Given the description of an element on the screen output the (x, y) to click on. 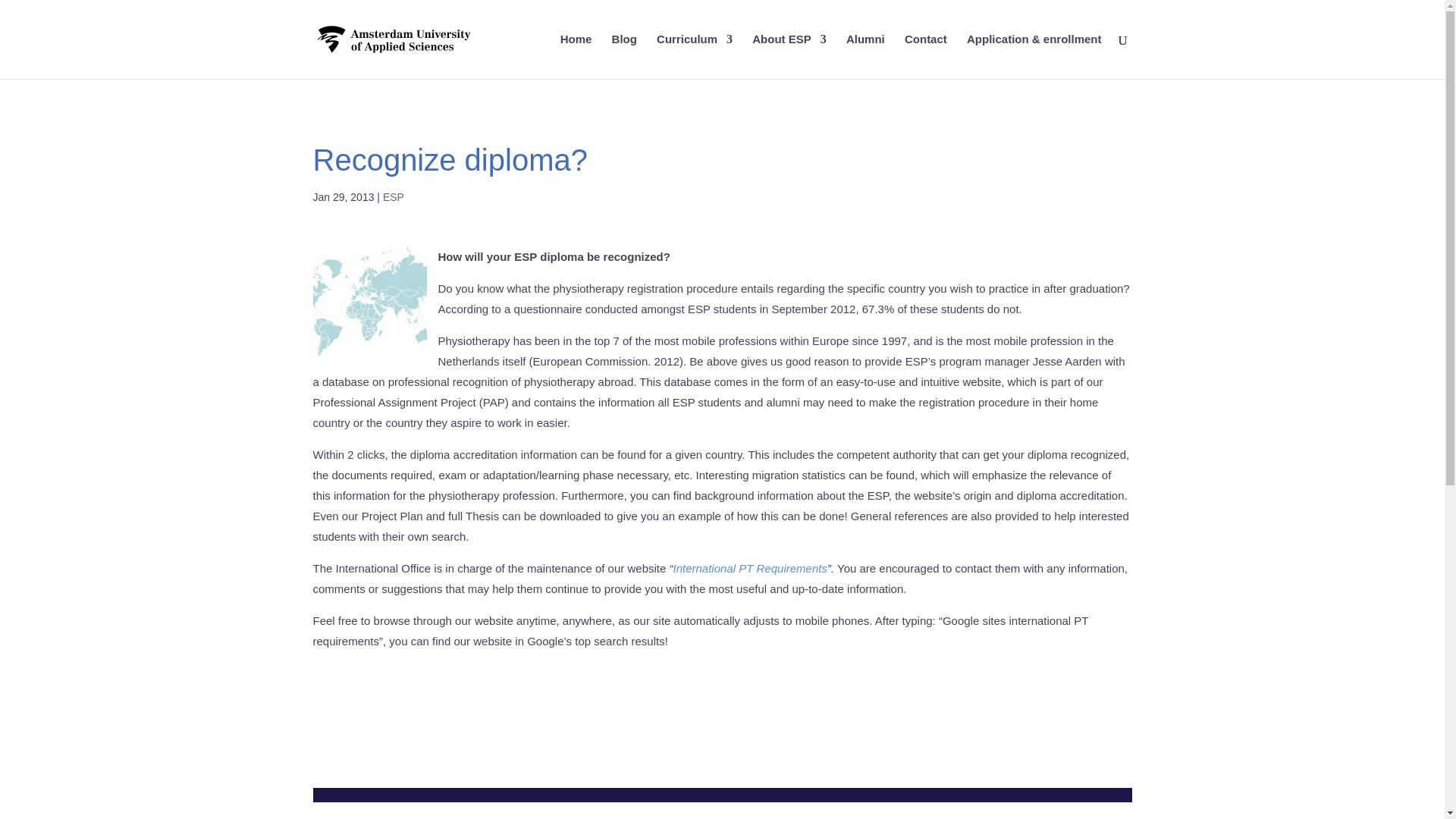
ESP (393, 196)
World (369, 303)
About ESP (789, 56)
International PT Requirements (749, 567)
Contact (925, 56)
Curriculum (694, 56)
